Given the description of an element on the screen output the (x, y) to click on. 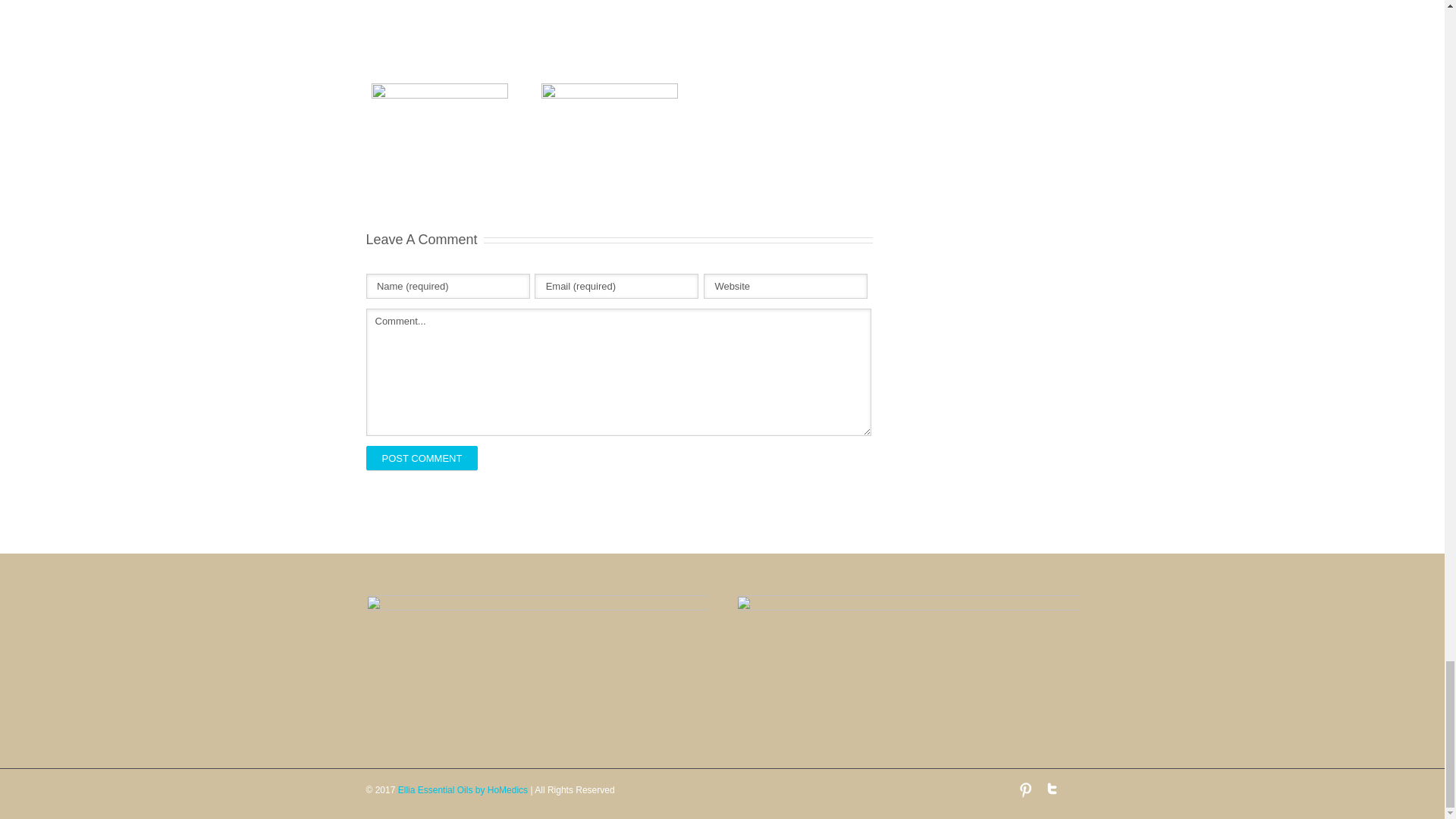
Post Comment (421, 457)
